Given the description of an element on the screen output the (x, y) to click on. 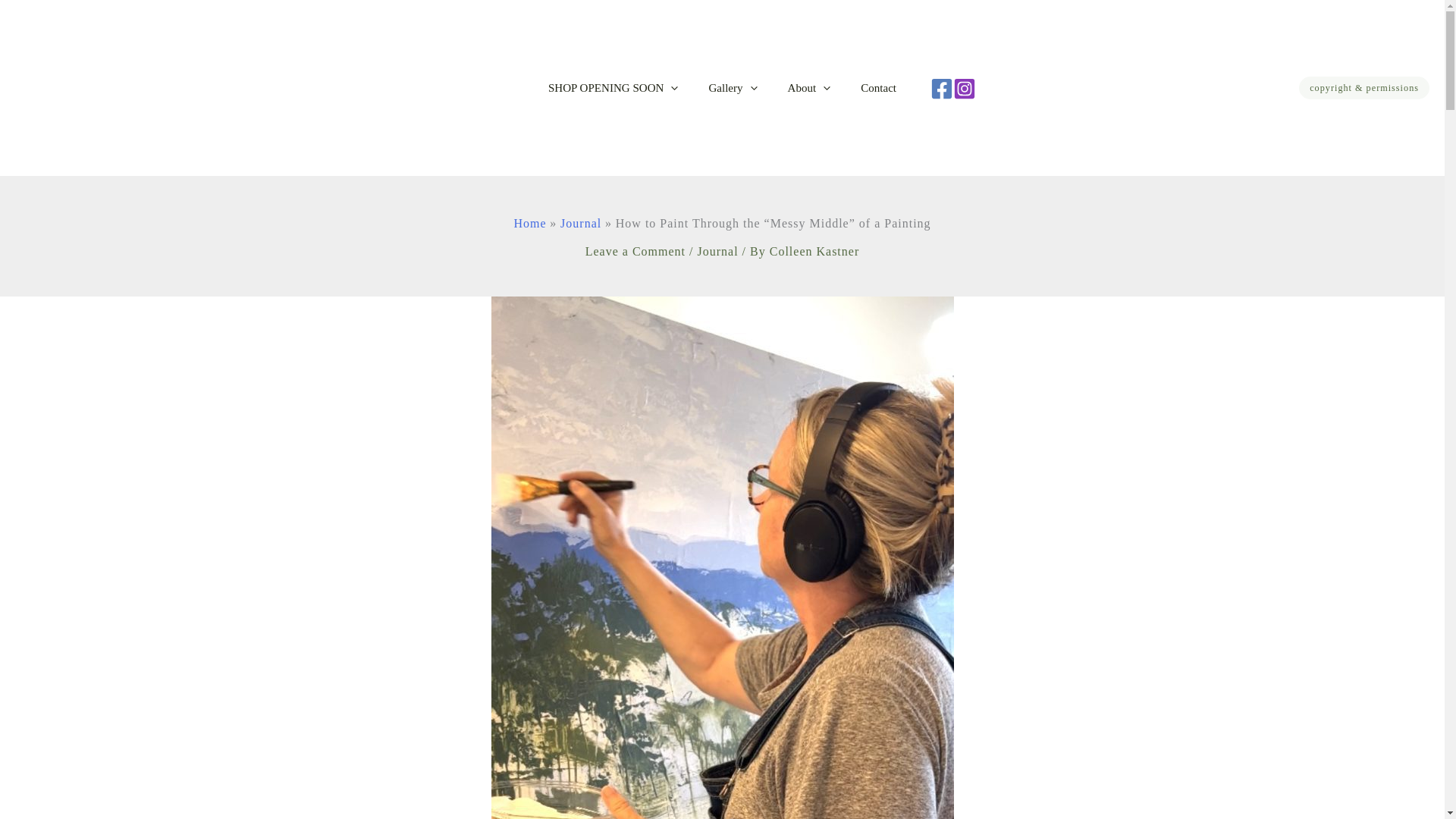
Contact (878, 87)
SHOP OPENING SOON (612, 87)
View all posts by Colleen Kastner (815, 250)
About (809, 87)
Gallery (732, 87)
